Given the description of an element on the screen output the (x, y) to click on. 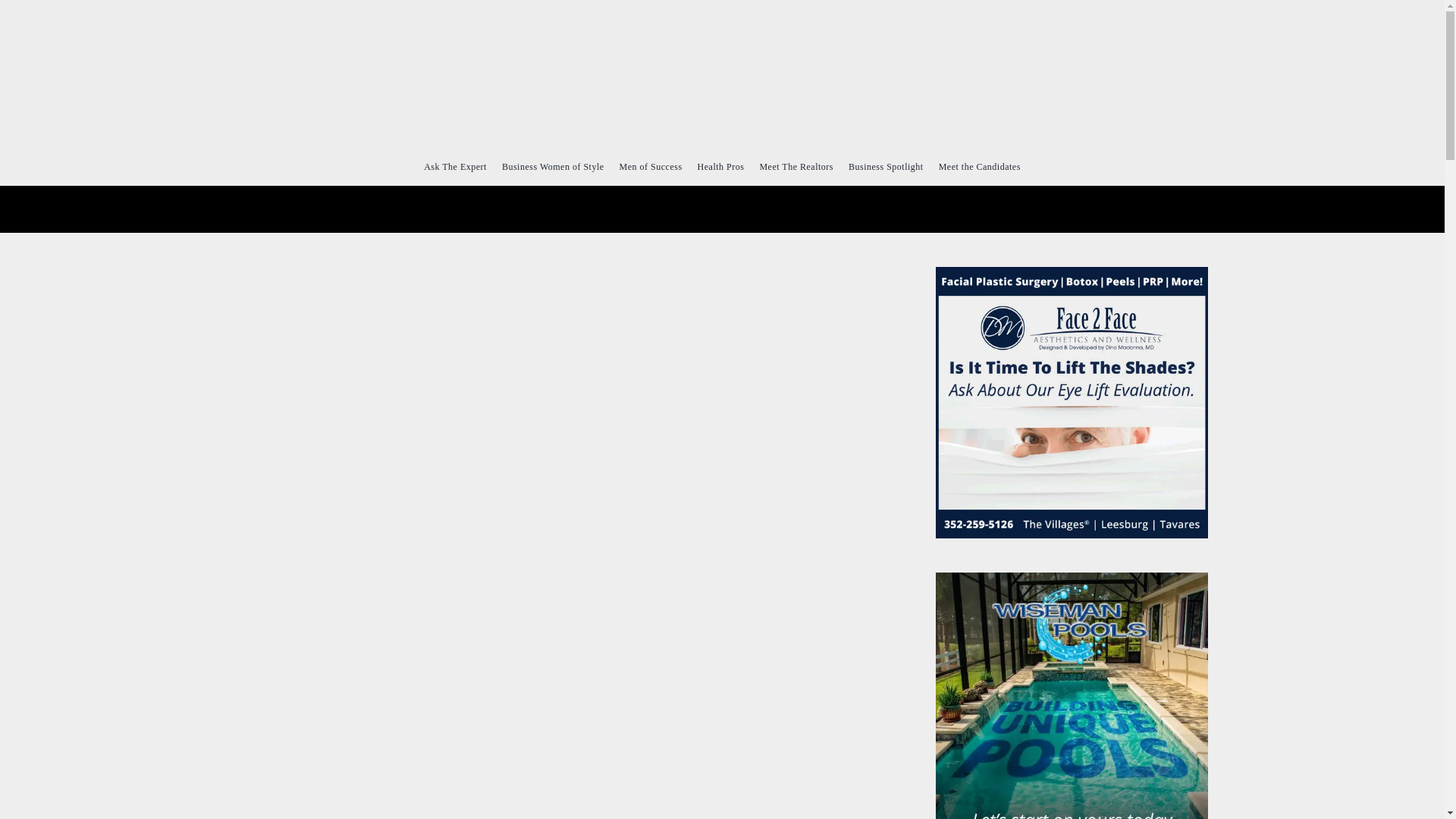
Meet The Realtors (795, 166)
Health Pros (720, 166)
Ask The Expert (454, 166)
Business Spotlight (885, 166)
Meet the Candidates (979, 166)
Business Women of Style (553, 166)
Men of Success (651, 166)
